Given the description of an element on the screen output the (x, y) to click on. 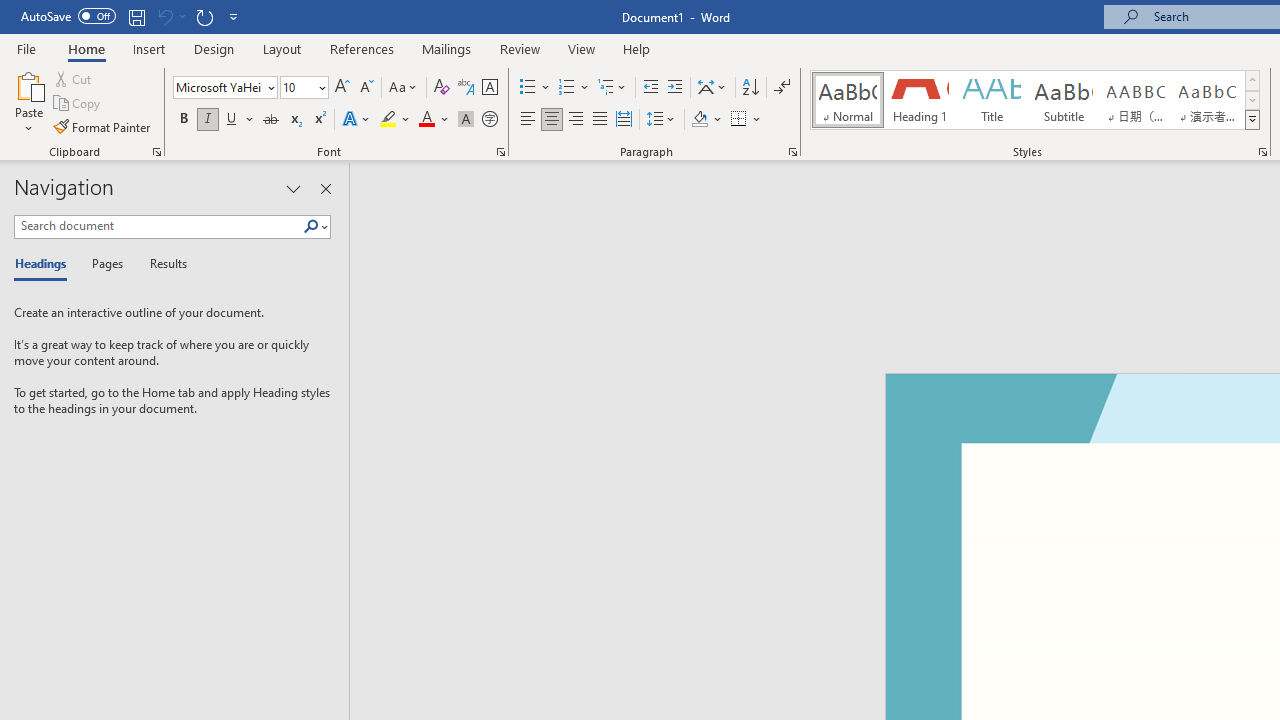
Can't Undo (170, 15)
